Given the description of an element on the screen output the (x, y) to click on. 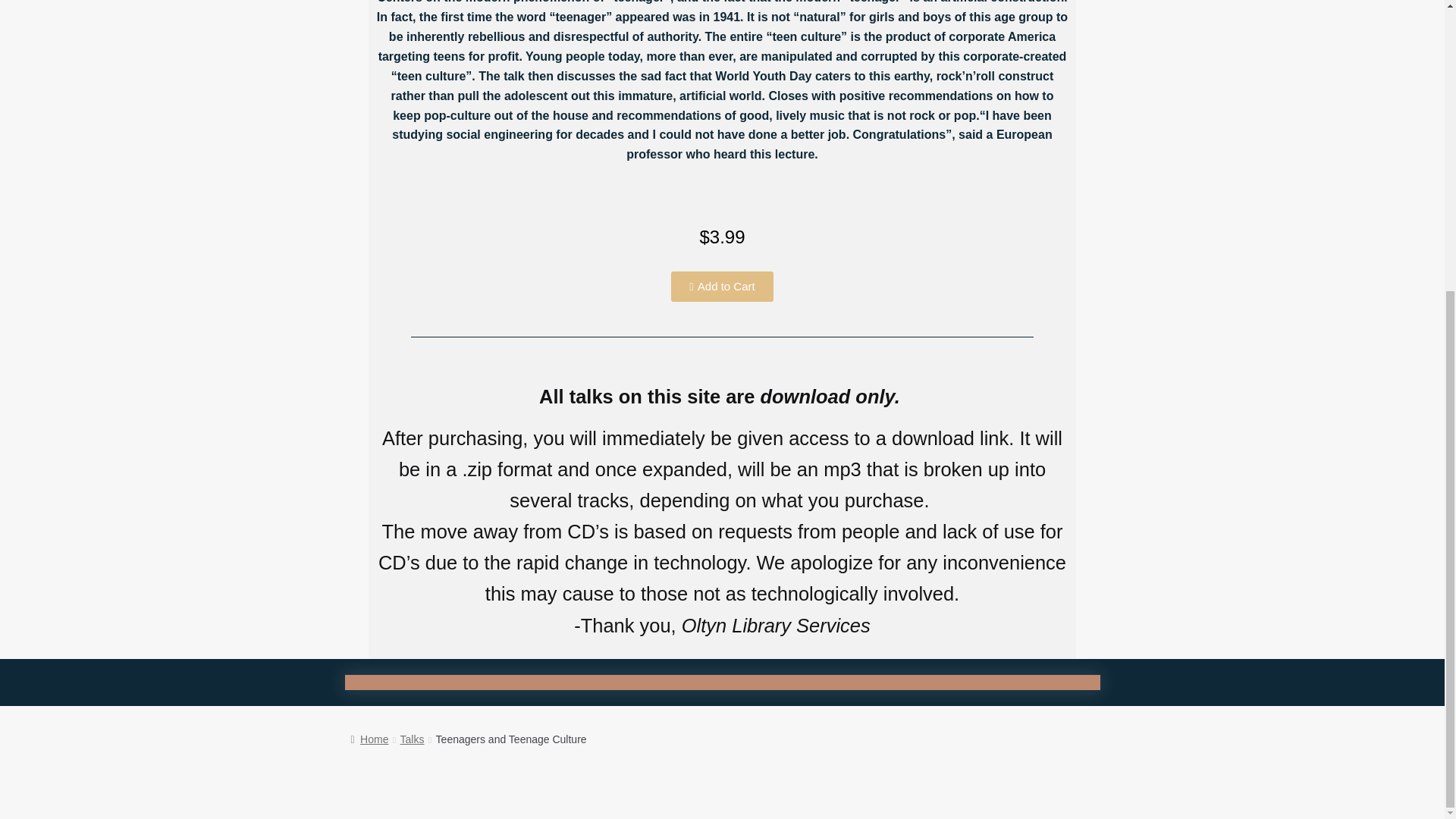
Home (369, 739)
Talks (412, 739)
Add to Cart (722, 286)
